Given the description of an element on the screen output the (x, y) to click on. 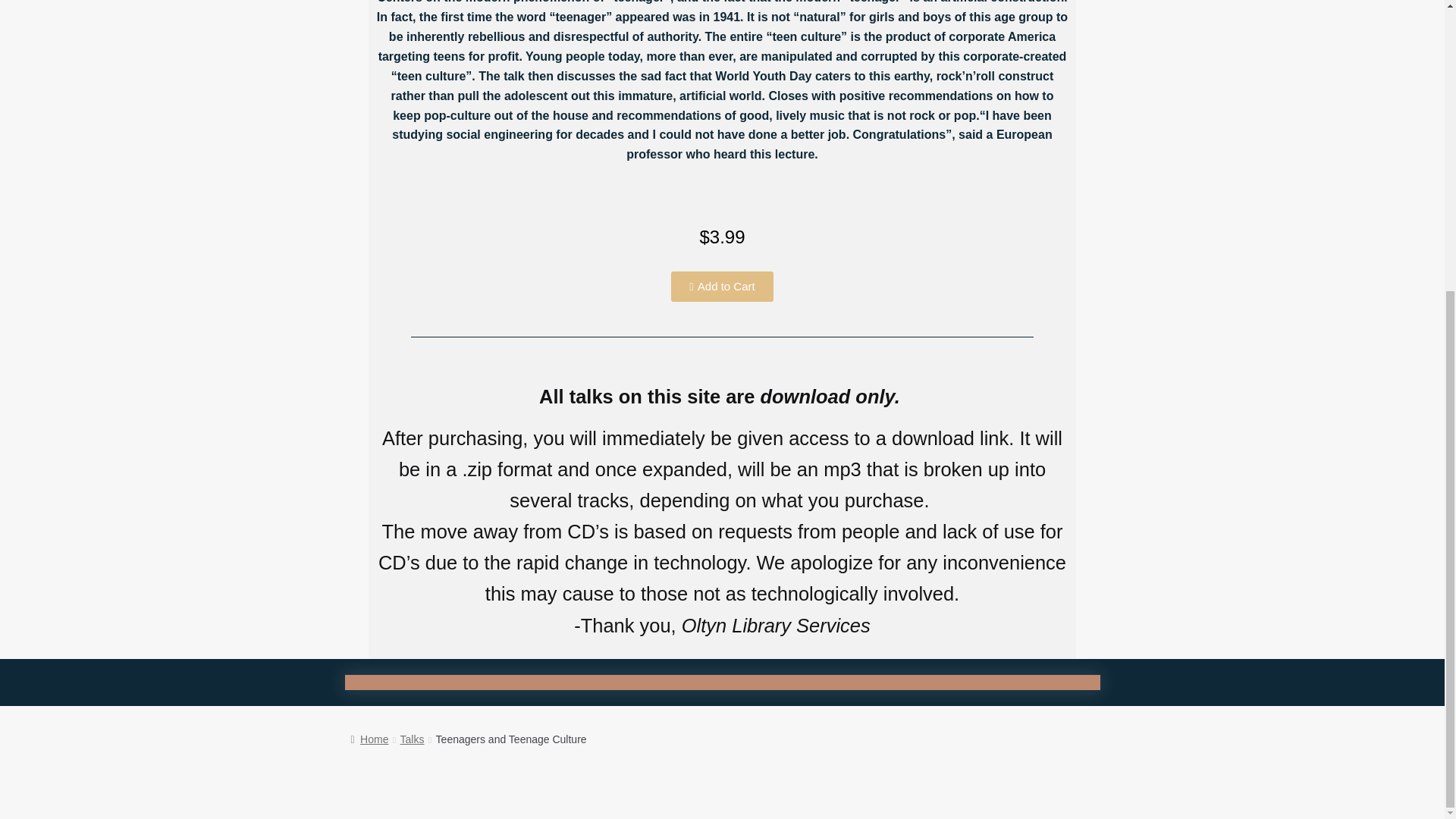
Home (369, 739)
Talks (412, 739)
Add to Cart (722, 286)
